Given the description of an element on the screen output the (x, y) to click on. 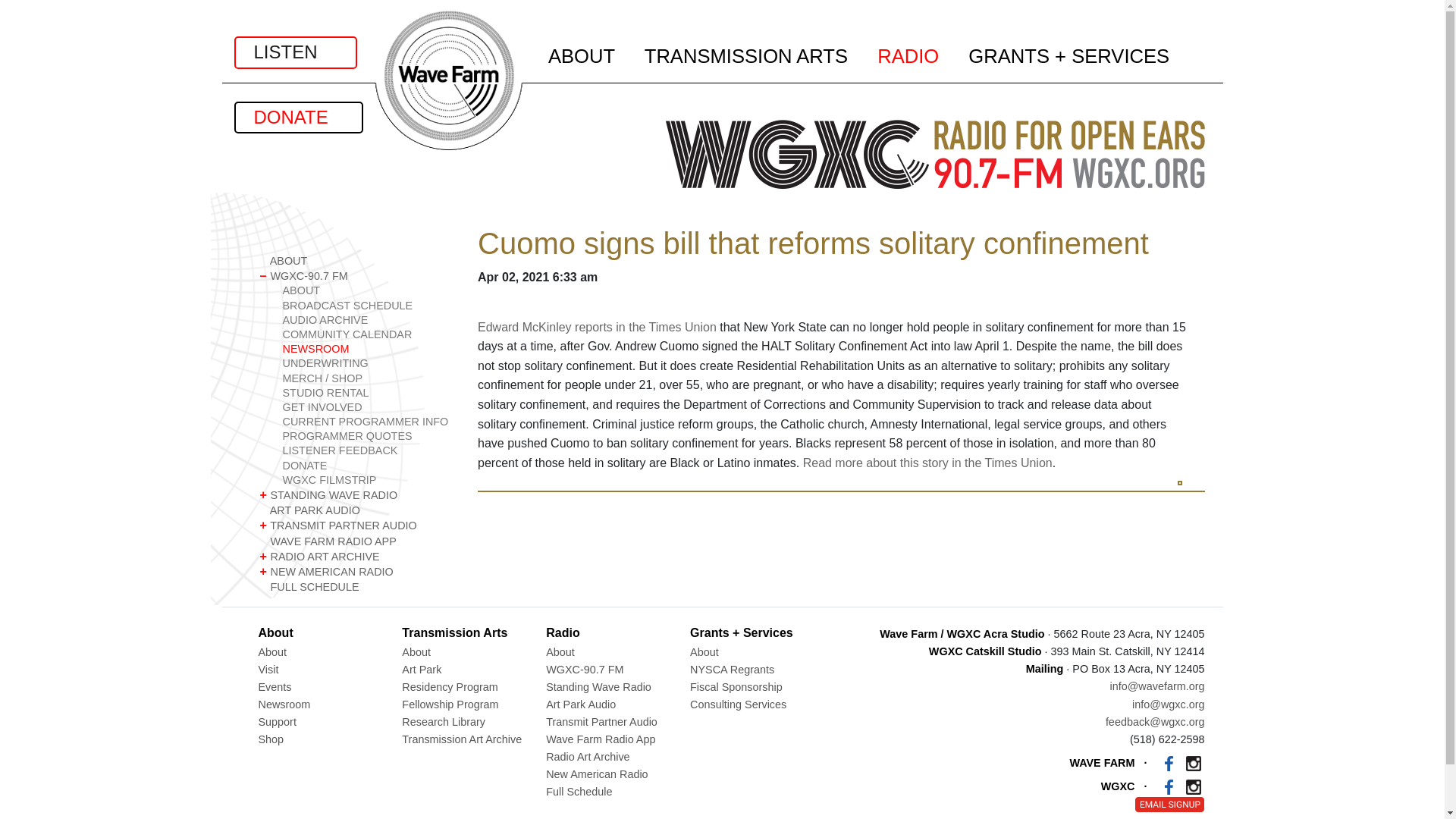
  ABOUT (355, 260)
BROADCAST SCHEDULE (367, 305)
DONATE    (297, 117)
LISTEN     (294, 51)
ABOUT (367, 290)
